Given the description of an element on the screen output the (x, y) to click on. 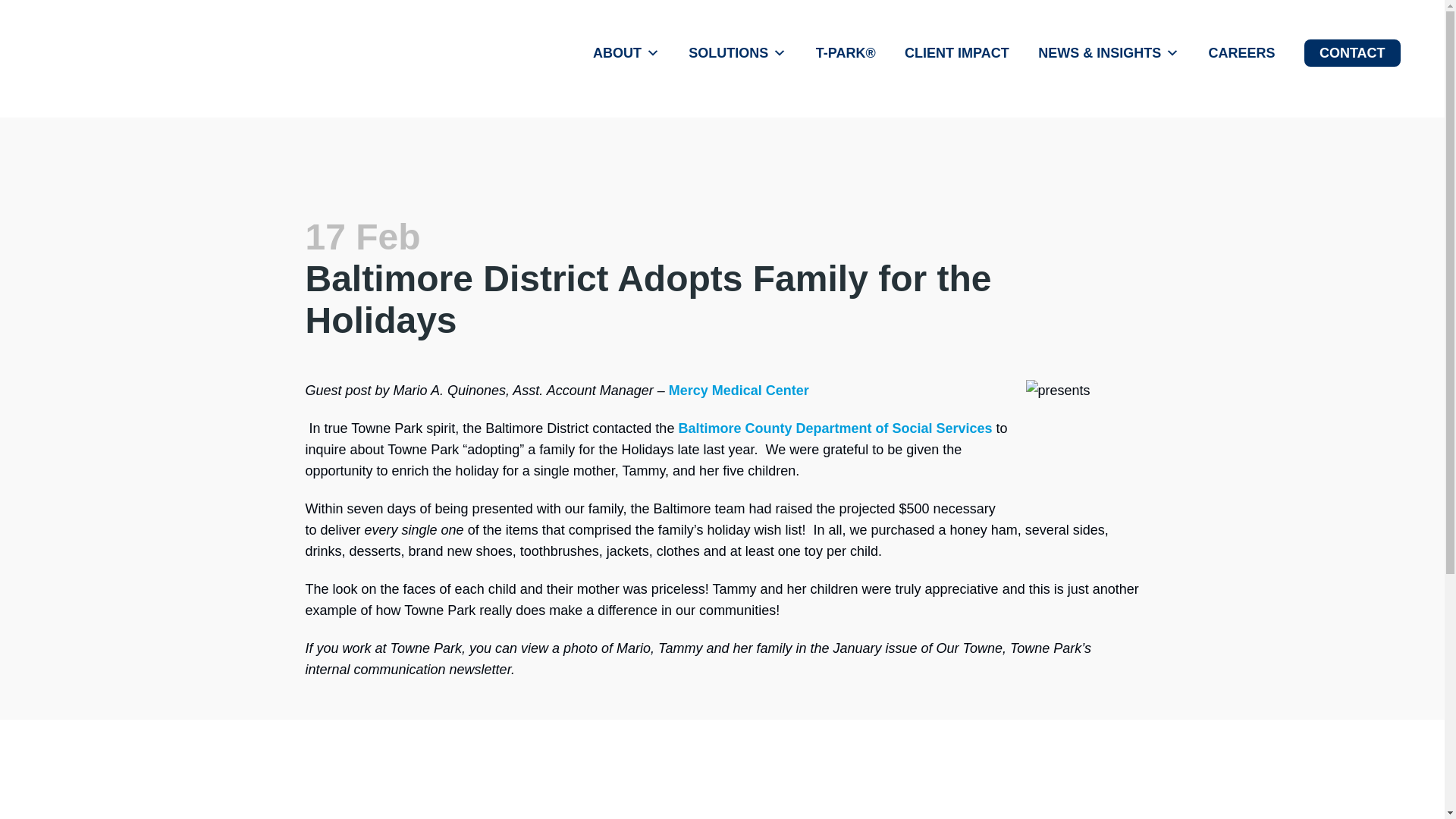
SOLUTIONS (737, 52)
